Given the description of an element on the screen output the (x, y) to click on. 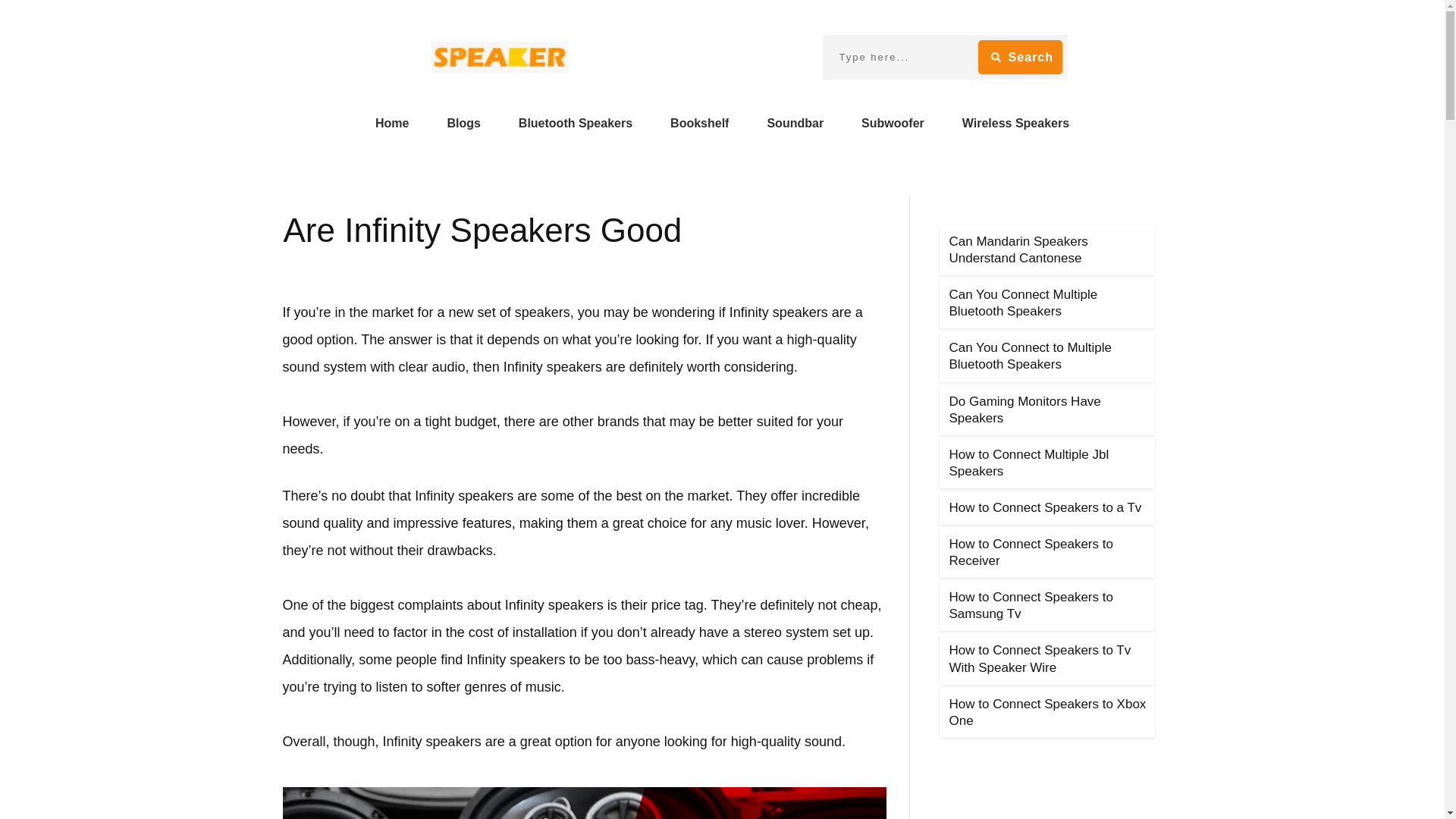
Bluetooth Speakers (574, 123)
Do Gaming Monitors Have Speakers (1024, 409)
How to Connect Speakers to Samsung Tv (1031, 604)
Soundbar (795, 123)
How to Connect Speakers to Tv With Speaker Wire (1040, 658)
How to Connect Speakers to a Tv (1045, 507)
Can Mandarin Speakers Understand Cantonese (1018, 249)
Can You Connect to Multiple Bluetooth Speakers (1030, 355)
How to Connect Speakers to Tv With Speaker Wire (1040, 658)
Do Gaming Monitors Have Speakers (1024, 409)
Can You Connect Multiple Bluetooth Speakers (1023, 302)
How to Connect Speakers to Samsung Tv (1031, 604)
How to Connect Speakers to Receiver (1031, 552)
How to Connect Speakers to Receiver (1031, 552)
Can You Connect Multiple Bluetooth Speakers (1023, 302)
